Given the description of an element on the screen output the (x, y) to click on. 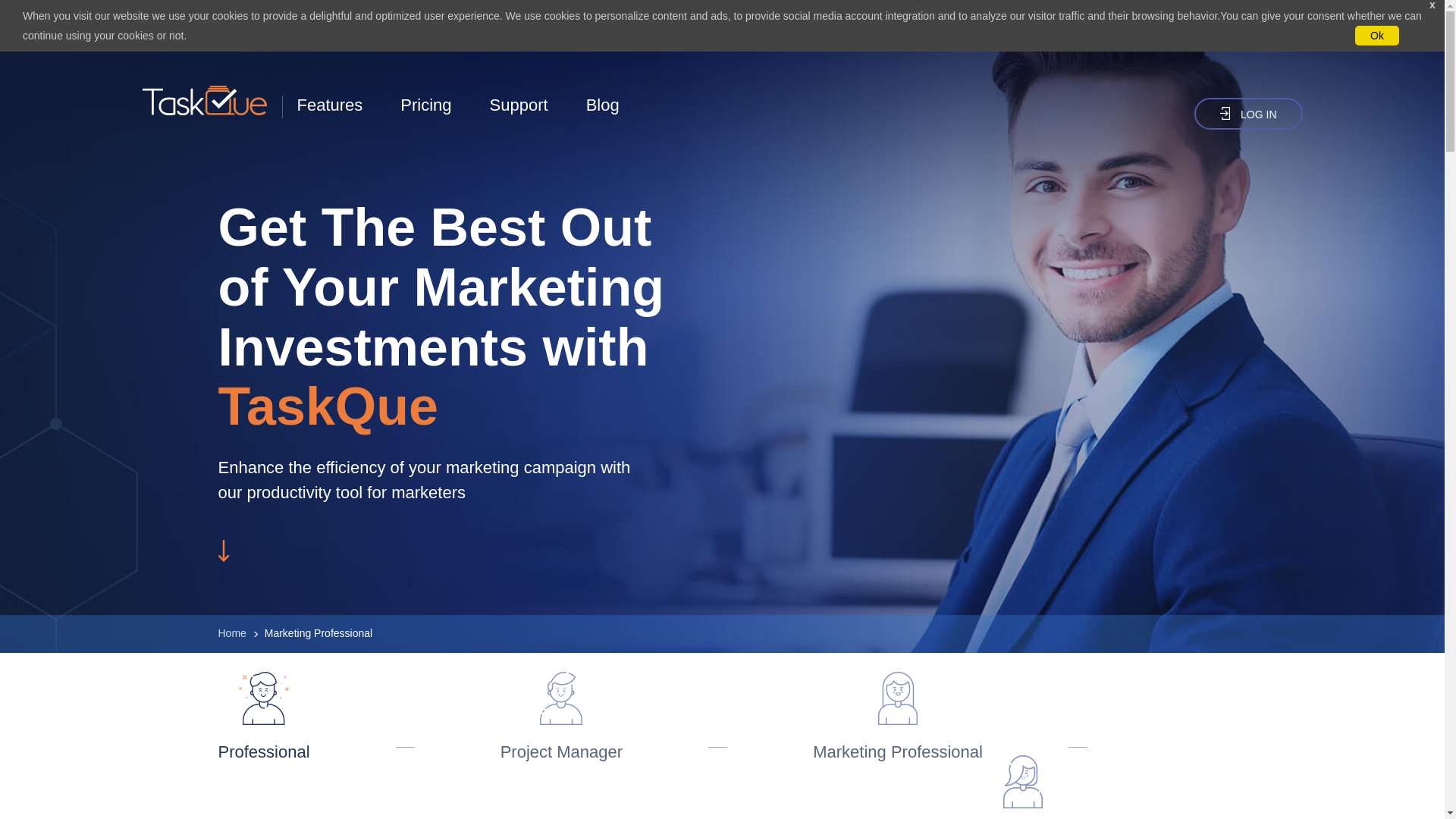
Marketing Professional (897, 717)
Support (518, 105)
Freelancer (1022, 787)
Blog (603, 105)
LOG IN (1247, 113)
Pricing (425, 105)
Home (232, 633)
Ok (1377, 35)
Features (329, 105)
Professional (264, 717)
